Given the description of an element on the screen output the (x, y) to click on. 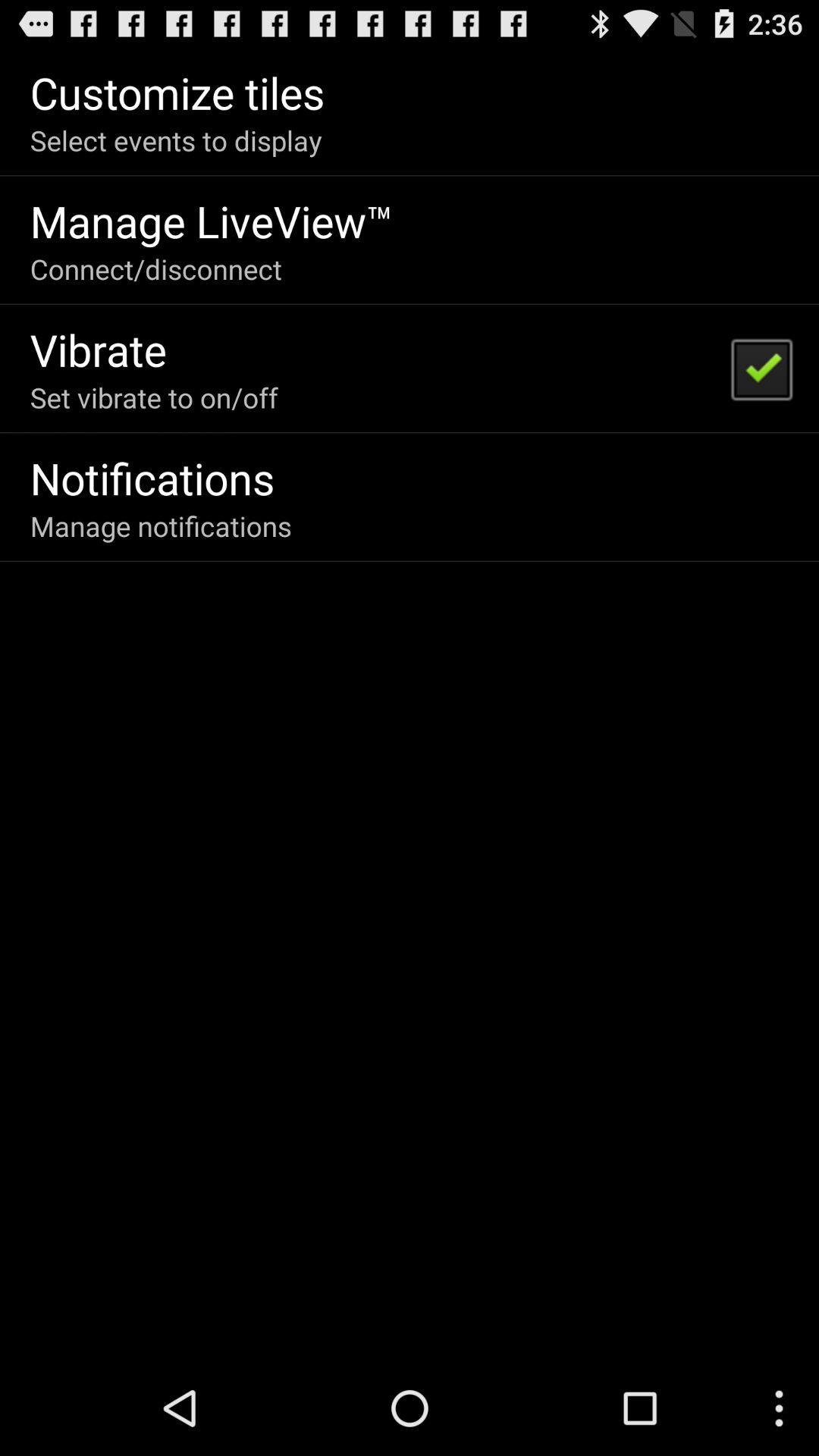
tap the icon above the notifications item (154, 397)
